Given the description of an element on the screen output the (x, y) to click on. 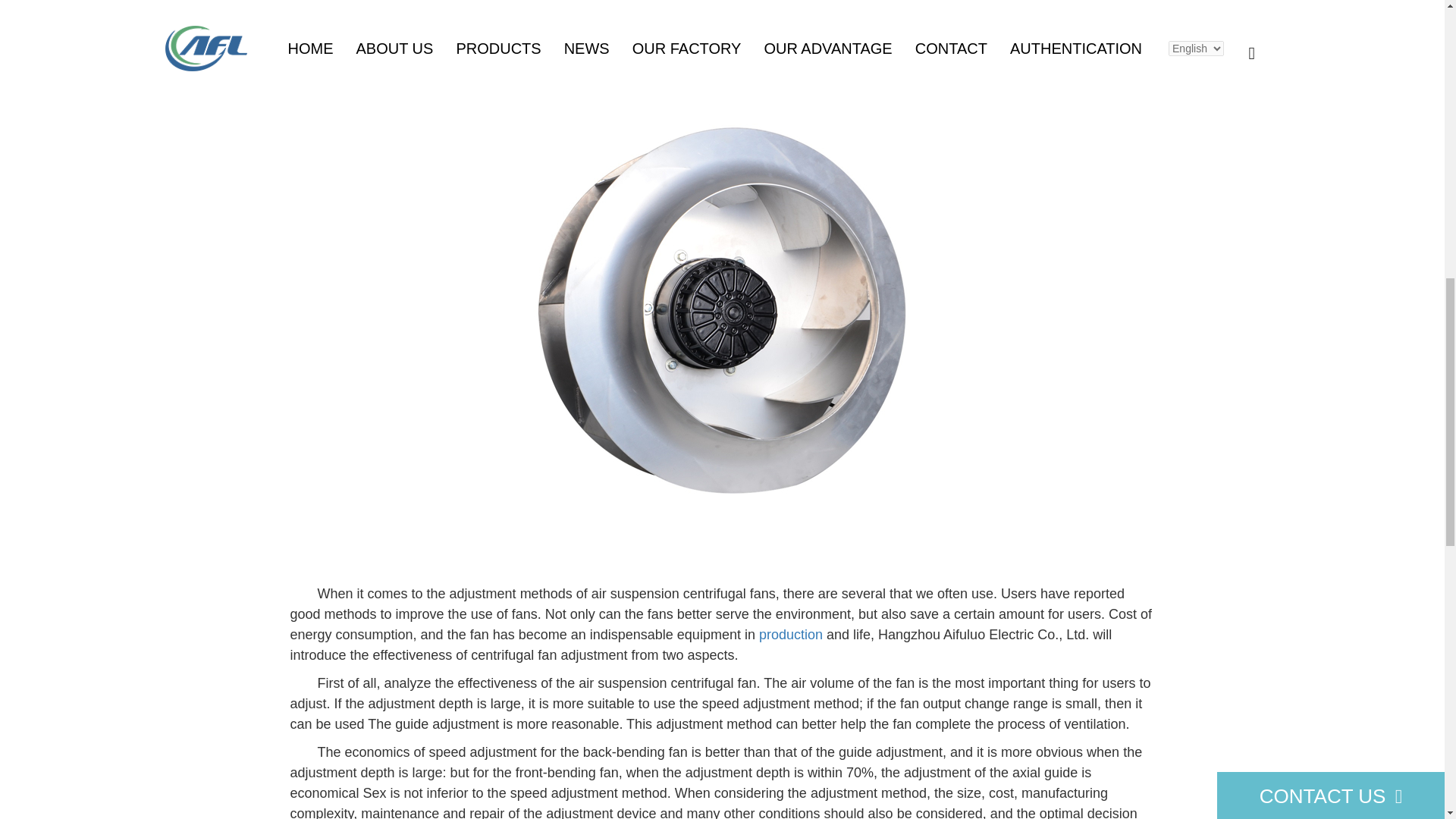
centrifugal fan (551, 10)
centrifugal fan (551, 427)
production (790, 634)
